Given the description of an element on the screen output the (x, y) to click on. 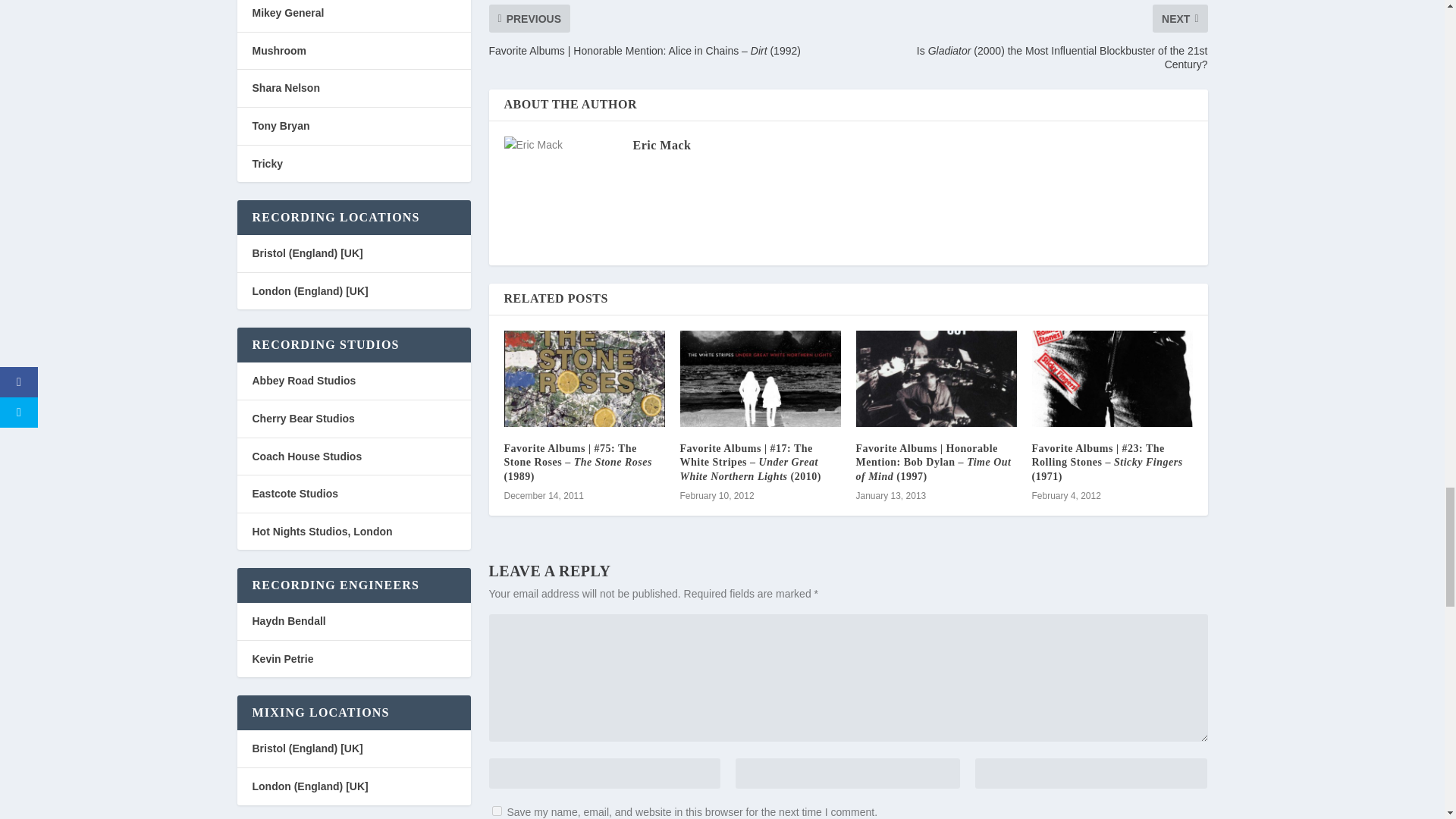
yes (496, 810)
View all posts by Eric Mack (660, 144)
